Given the description of an element on the screen output the (x, y) to click on. 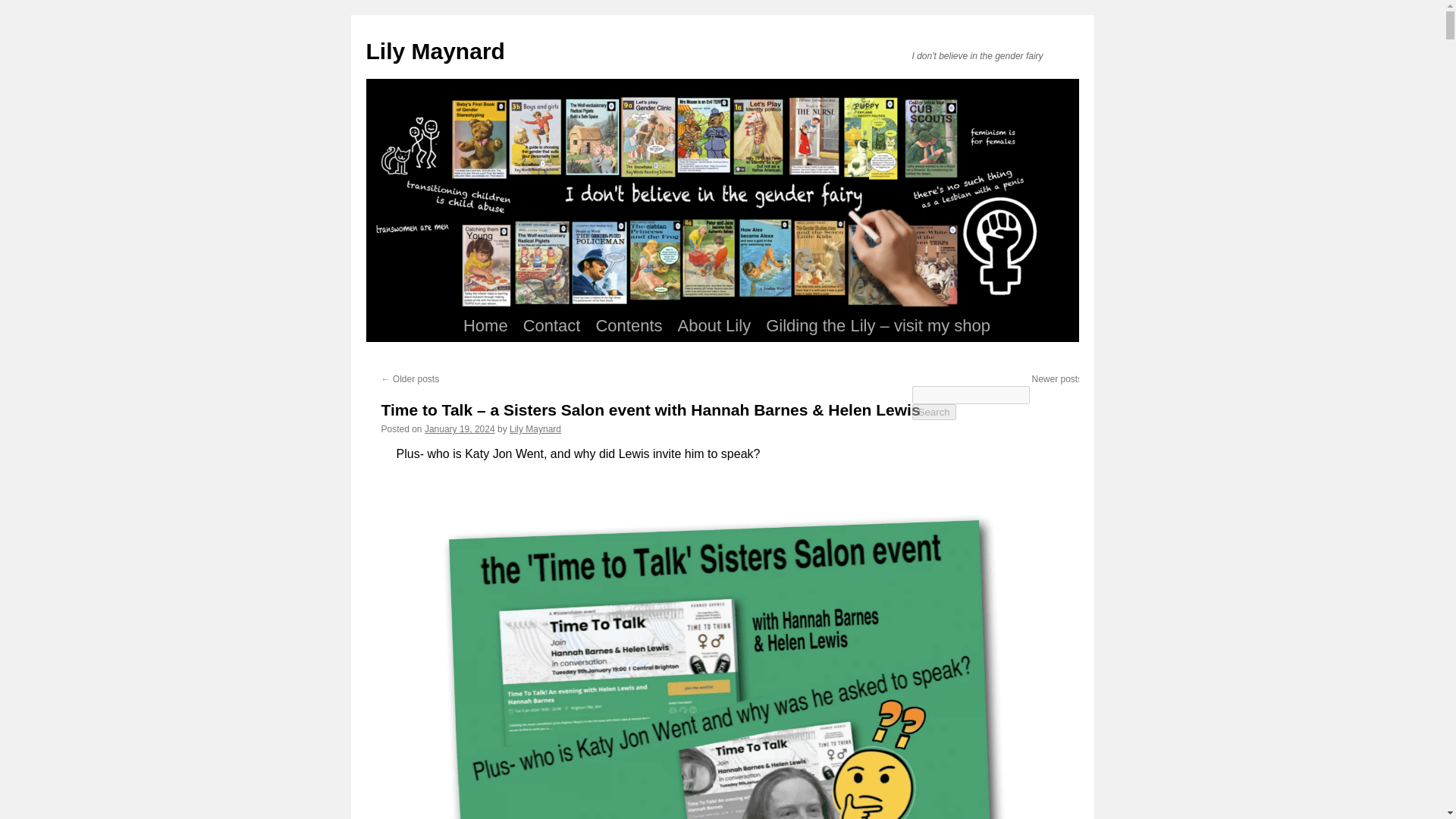
View all posts by Lily Maynard (534, 429)
About Lily (713, 326)
Contact (551, 326)
Lily Maynard (534, 429)
Home (485, 326)
Contents (628, 326)
January 19, 2024 (460, 429)
Newer posts (1061, 378)
Lily Maynard (434, 50)
4:36 am (460, 429)
